Given the description of an element on the screen output the (x, y) to click on. 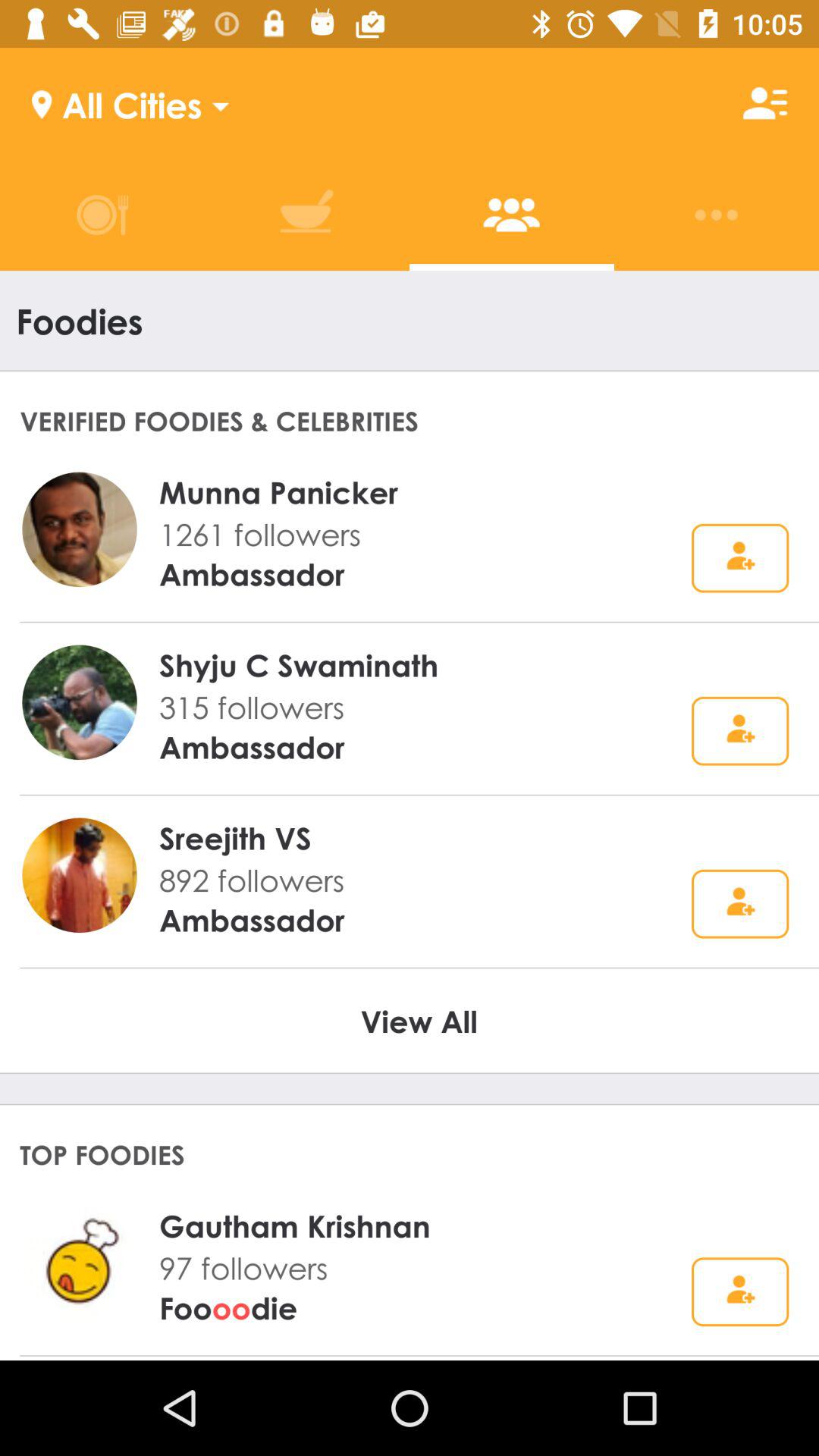
click on view all (419, 1020)
icon right to the text called 1261 followers (739, 558)
click on the image left of contacts (306, 215)
click on the icon in top right corner (765, 103)
